Given the description of an element on the screen output the (x, y) to click on. 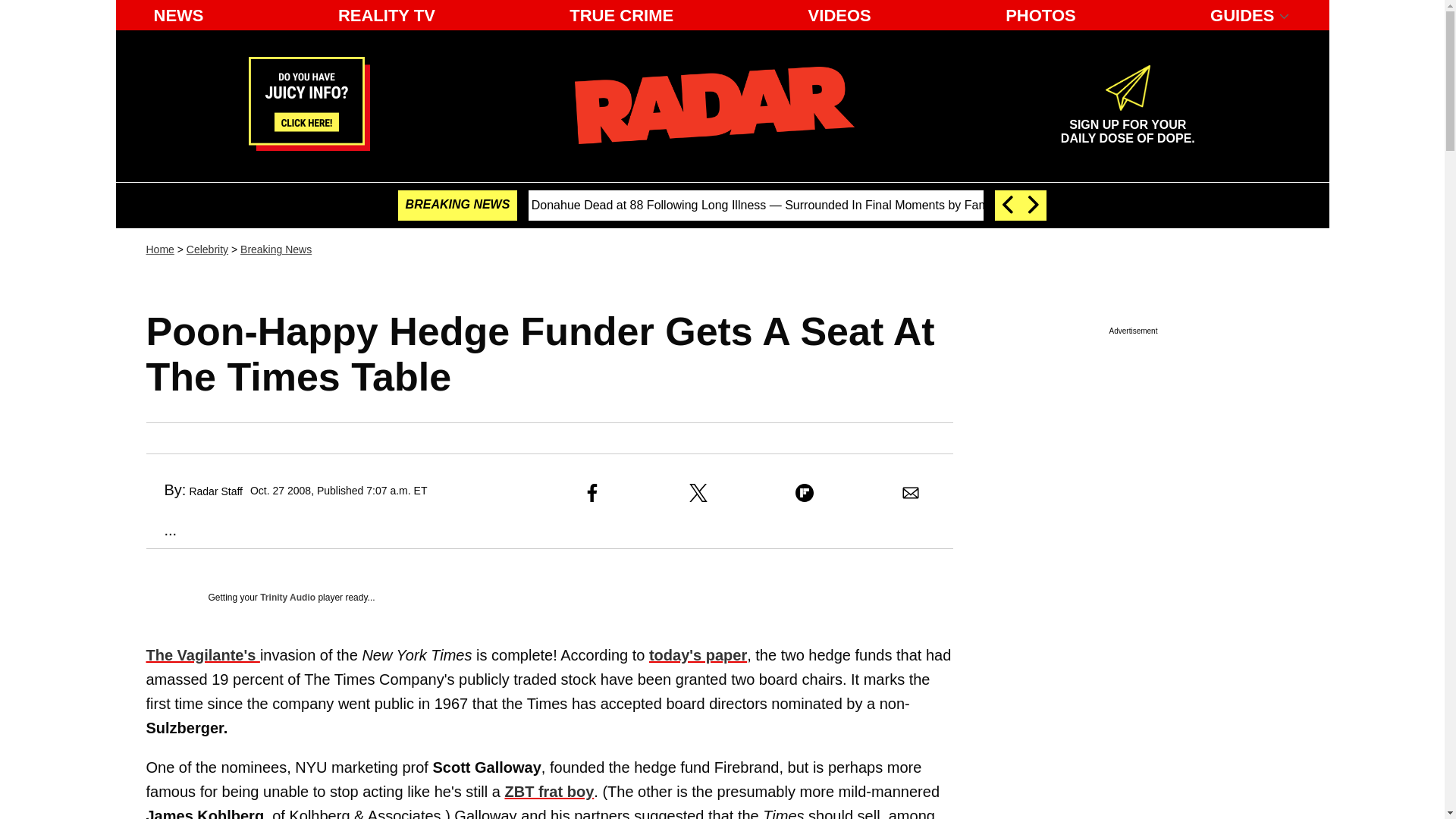
ZBT frat boy (548, 791)
Share to Facebook (590, 493)
PHOTOS (1040, 15)
NEWS (178, 15)
today's paper (697, 655)
VIDEOS (839, 15)
Share to Flipboard (803, 493)
Celebrity (207, 249)
Radar Online (714, 105)
Breaking News (275, 249)
